Given the description of an element on the screen output the (x, y) to click on. 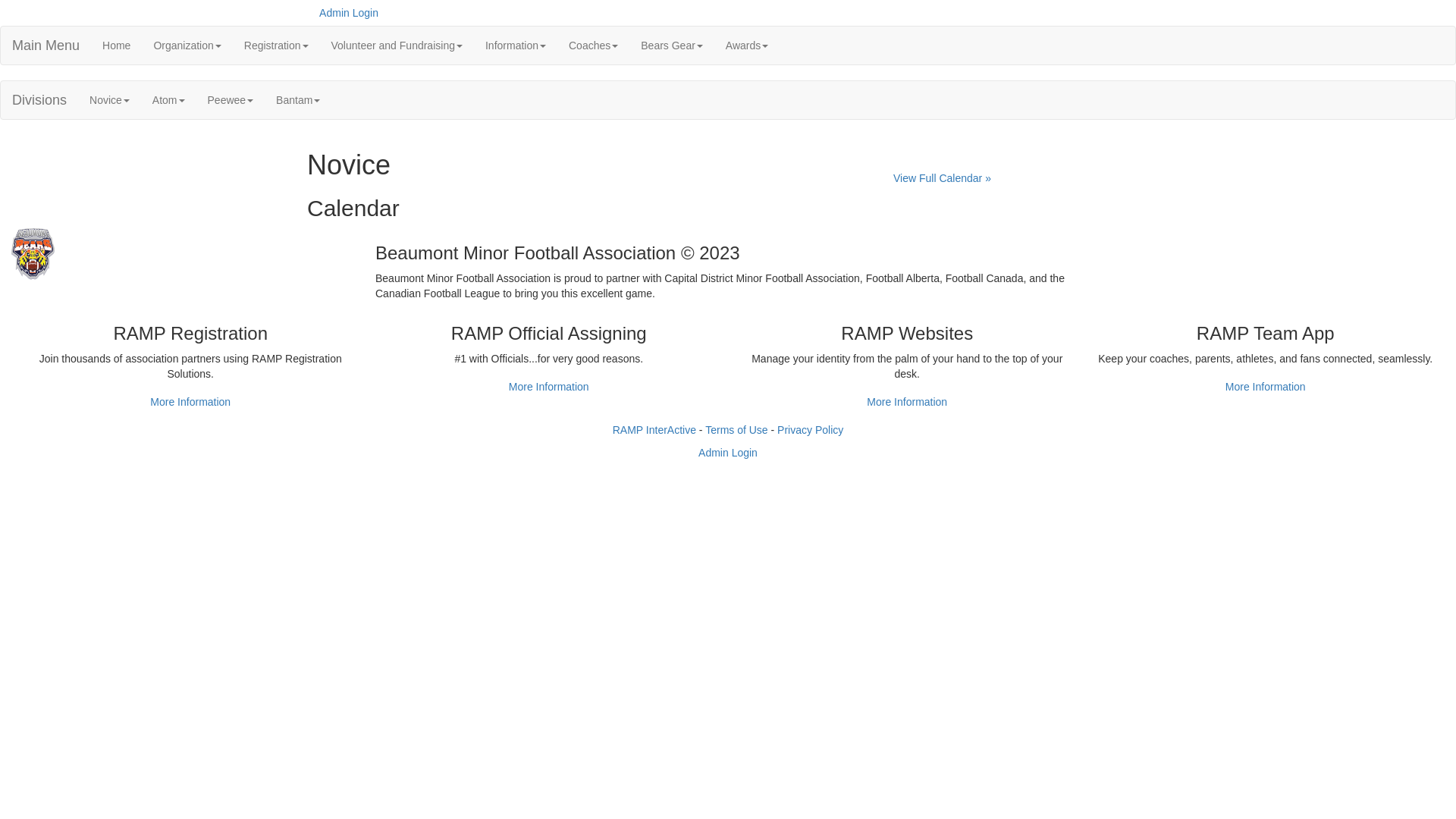
More Information Element type: text (548, 386)
Facebook Element type: text (1116, 8)
Volunteer and Fundraising Element type: text (396, 45)
Information Element type: text (515, 45)
Terms of Use Element type: text (736, 429)
Admin Login Element type: text (727, 452)
Awards Element type: text (746, 45)
RAMP InterActive Element type: text (654, 429)
Novice Element type: text (109, 100)
More Information Element type: text (190, 401)
More Information Element type: text (1265, 386)
Registration Element type: text (276, 45)
Peewee Element type: text (230, 100)
Bears Gear Element type: text (671, 45)
Organization Element type: text (186, 45)
Atom Element type: text (168, 100)
More Information Element type: text (906, 401)
Coaches Element type: text (593, 45)
Privacy Policy Element type: text (810, 429)
 Admin Login
Admin Login Element type: text (347, 12)
Bantam Element type: text (297, 100)
Main Menu Element type: text (45, 45)
Instagram Element type: text (1138, 8)
Home Element type: text (116, 45)
Divisions Element type: text (39, 100)
